Given the description of an element on the screen output the (x, y) to click on. 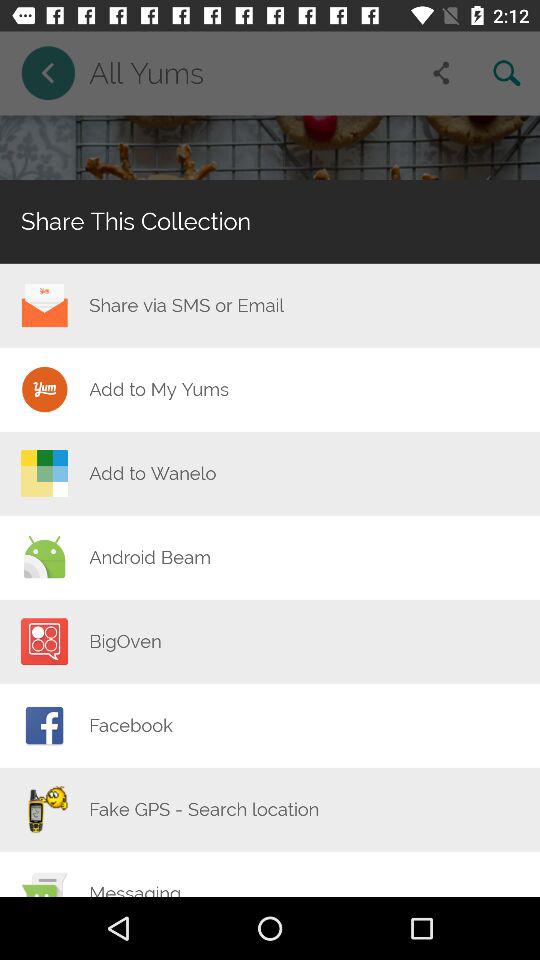
tap the icon below add to wanelo icon (150, 557)
